Given the description of an element on the screen output the (x, y) to click on. 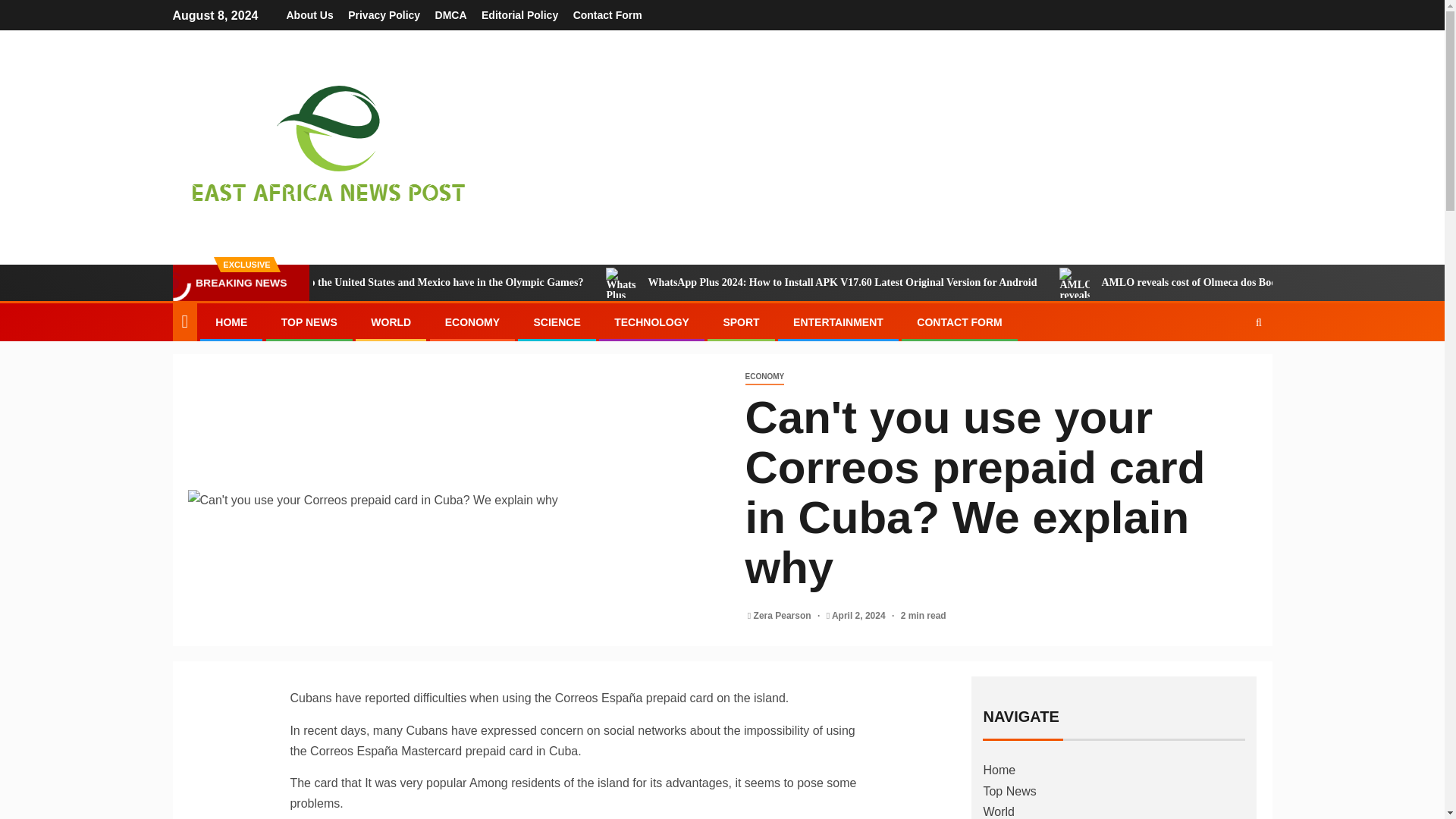
About Us (309, 15)
Search (1229, 368)
Privacy Policy (383, 15)
WORLD (390, 322)
CONTACT FORM (960, 322)
ECONOMY (472, 322)
ENTERTAINMENT (838, 322)
TOP NEWS (309, 322)
ECONOMY (764, 376)
SCIENCE (555, 322)
DMCA (451, 15)
Contact Form (607, 15)
HOME (231, 322)
